Given the description of an element on the screen output the (x, y) to click on. 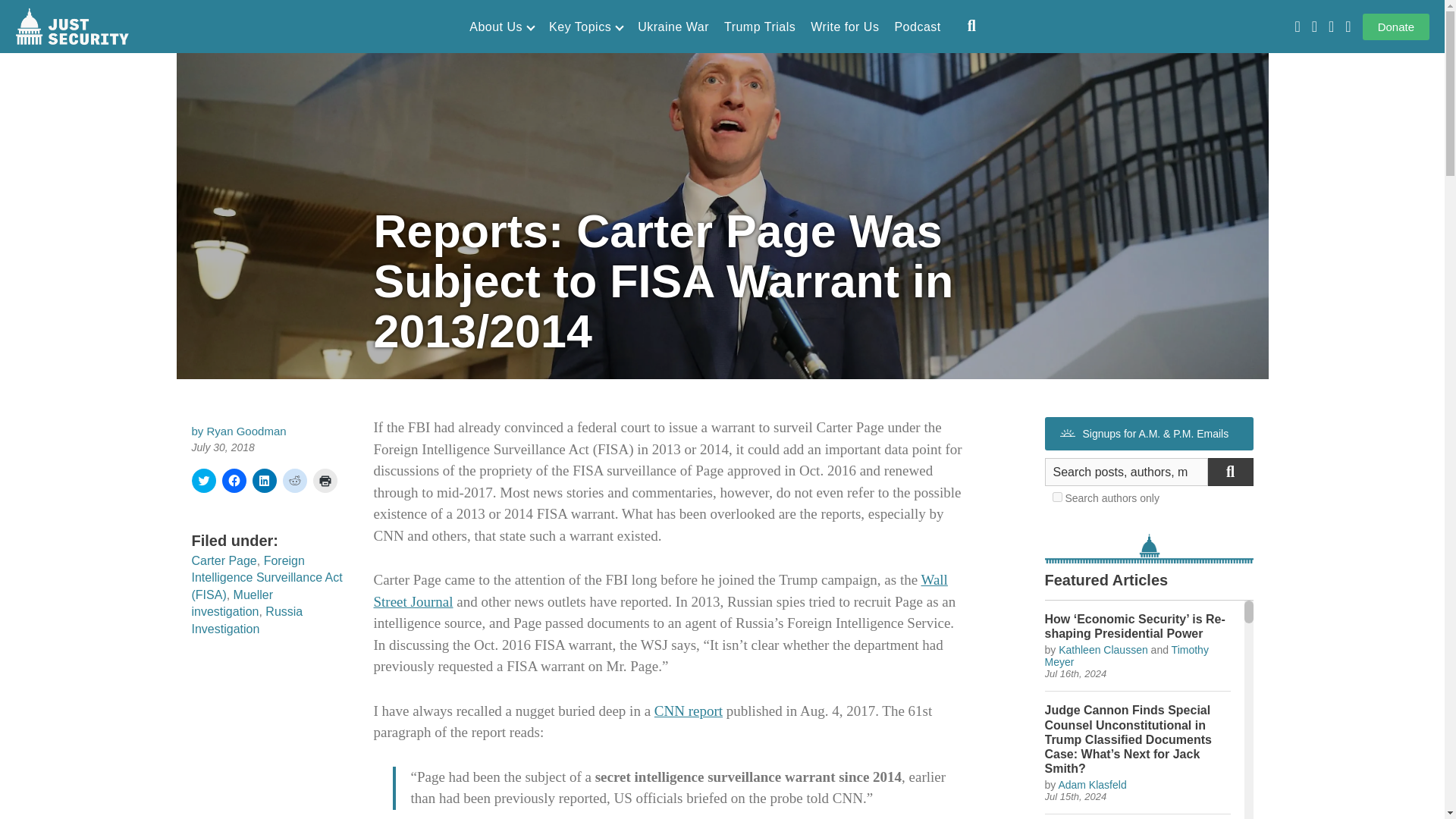
Click to share on Facebook (233, 480)
Podcast (916, 27)
Click to share on LinkedIn (263, 480)
Profile and articles by Ryan Goodman (246, 431)
Ukraine War (673, 27)
Donate (1395, 26)
Click to share on Reddit (293, 480)
Write for Us (844, 27)
on (1057, 497)
Key Topics (585, 27)
Click to print (324, 480)
Click to share on Twitter (202, 480)
About Us (501, 27)
Trump Trials (758, 27)
